Given the description of an element on the screen output the (x, y) to click on. 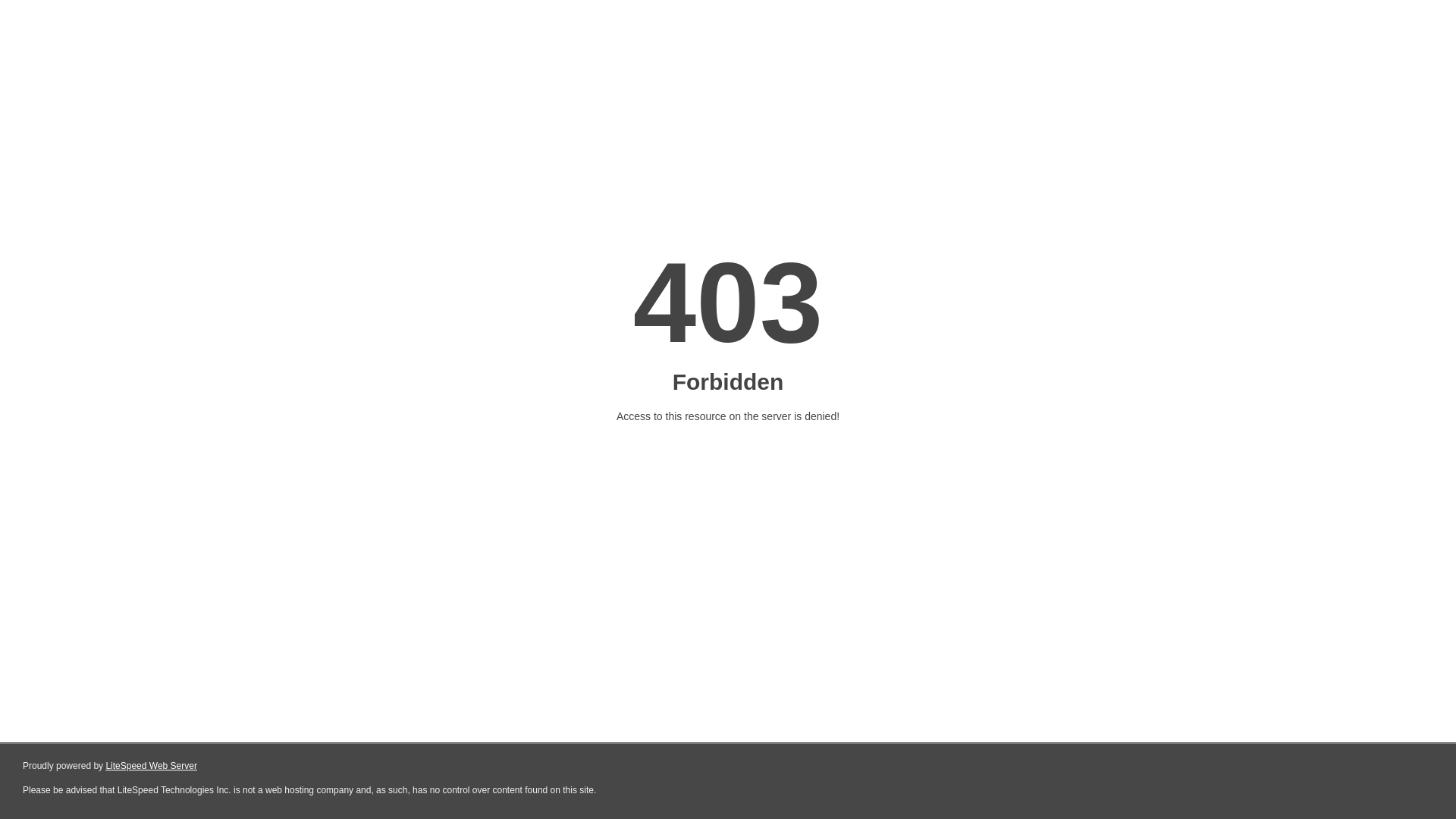
LiteSpeed Web Server Element type: text (151, 765)
